Given the description of an element on the screen output the (x, y) to click on. 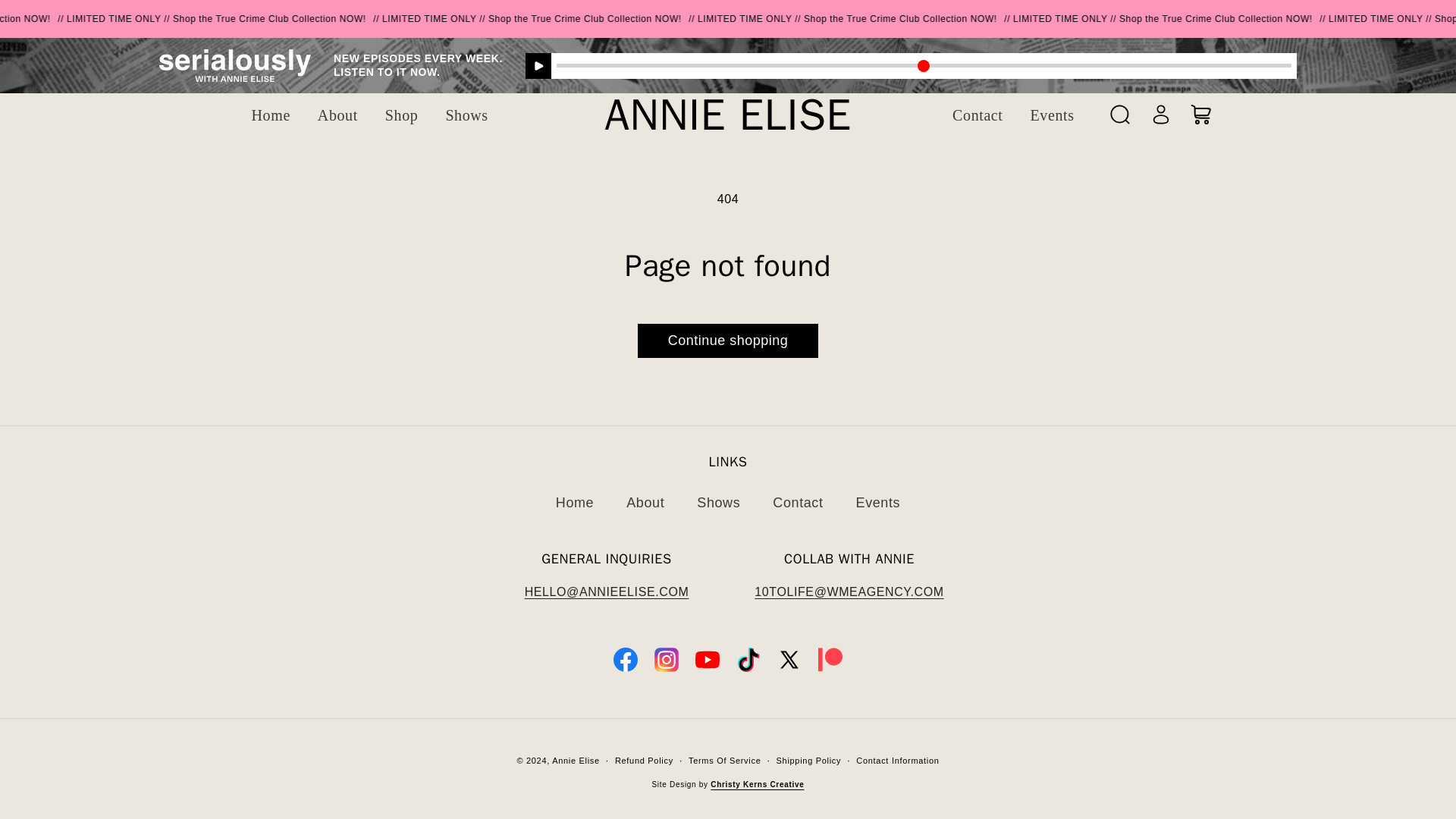
Contact (977, 114)
Log in (1160, 114)
Continue shopping (727, 340)
Skip to content (45, 16)
Home (574, 502)
1892 (923, 64)
ANNIE ELISE (727, 115)
Shows (718, 502)
Shop (401, 114)
Cart (1201, 114)
Home (271, 114)
About (337, 114)
Shows (465, 114)
Events (1051, 114)
About (645, 502)
